Given the description of an element on the screen output the (x, y) to click on. 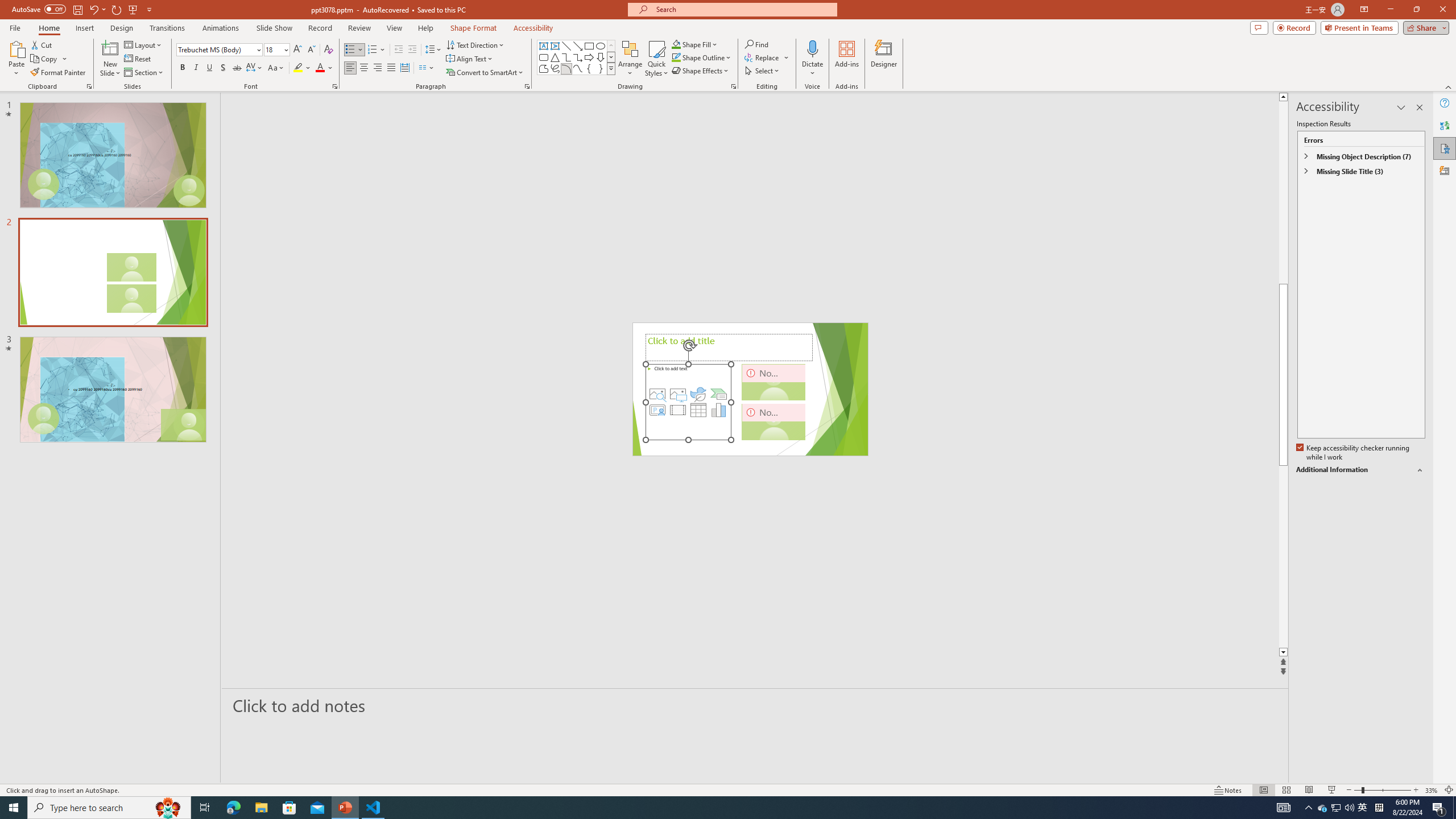
Insert a SmartArt Graphic (719, 394)
